Given the description of an element on the screen output the (x, y) to click on. 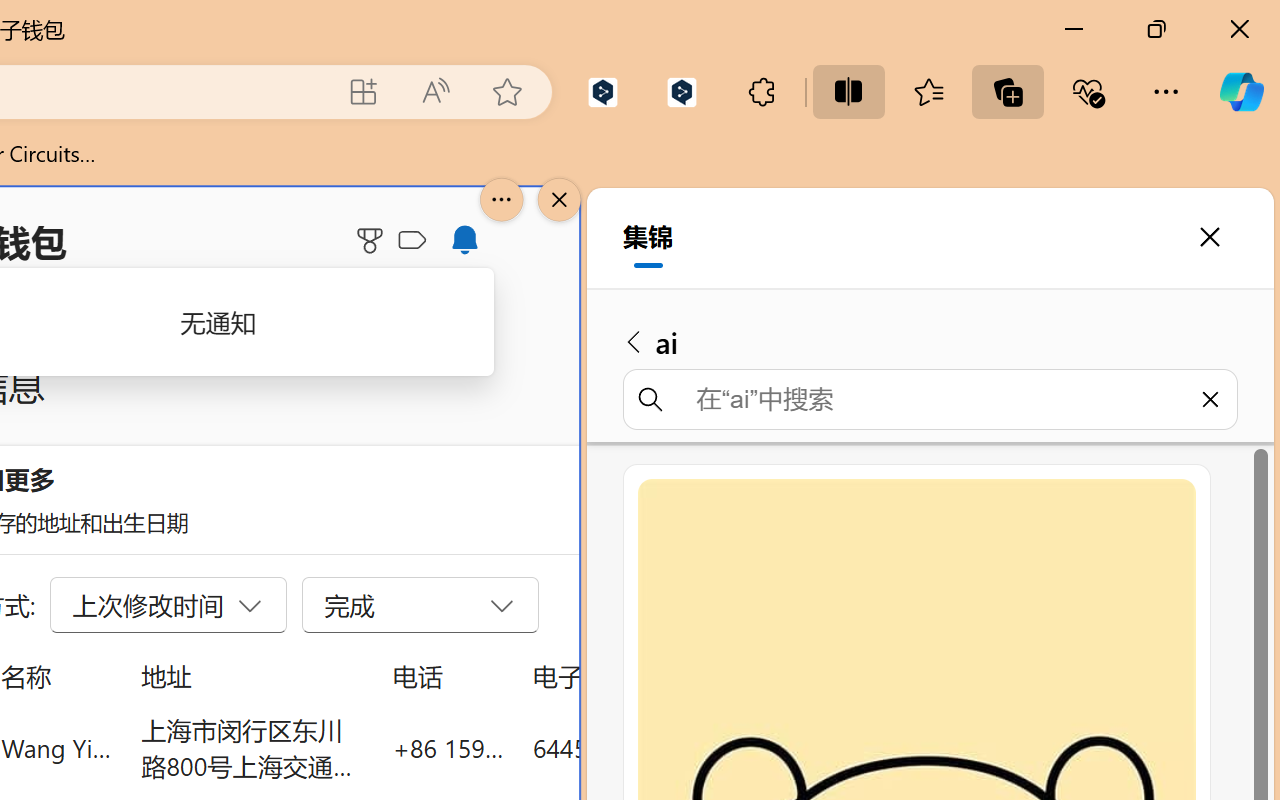
Microsoft Cashback (415, 241)
